Given the description of an element on the screen output the (x, y) to click on. 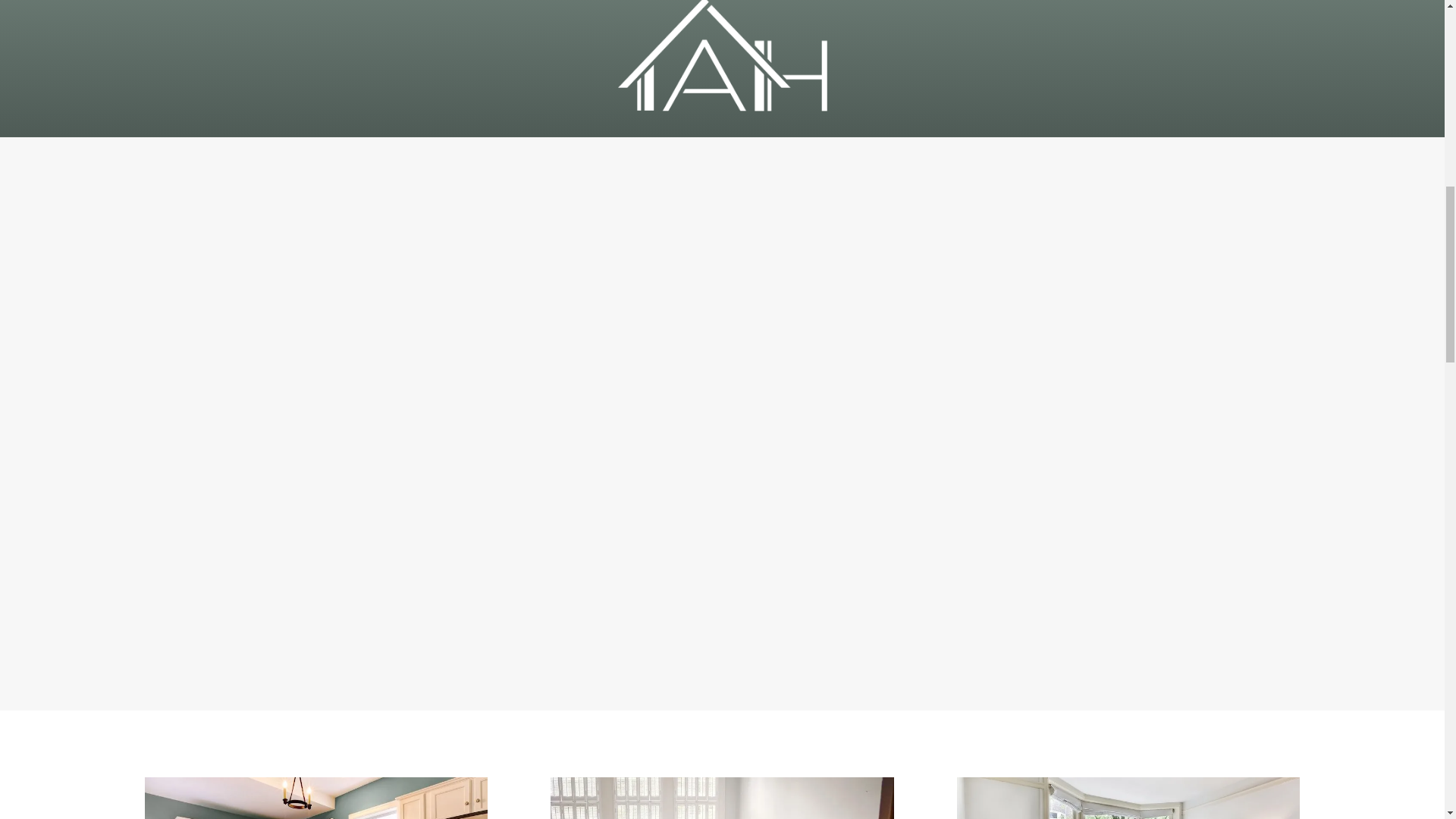
Spacious,Living,Room,With,A,Gray,Sofa,And,A,Fluffy (1128, 798)
aronica spacious kitchens (315, 798)
aronica shared bedroom3 (721, 798)
